Given the description of an element on the screen output the (x, y) to click on. 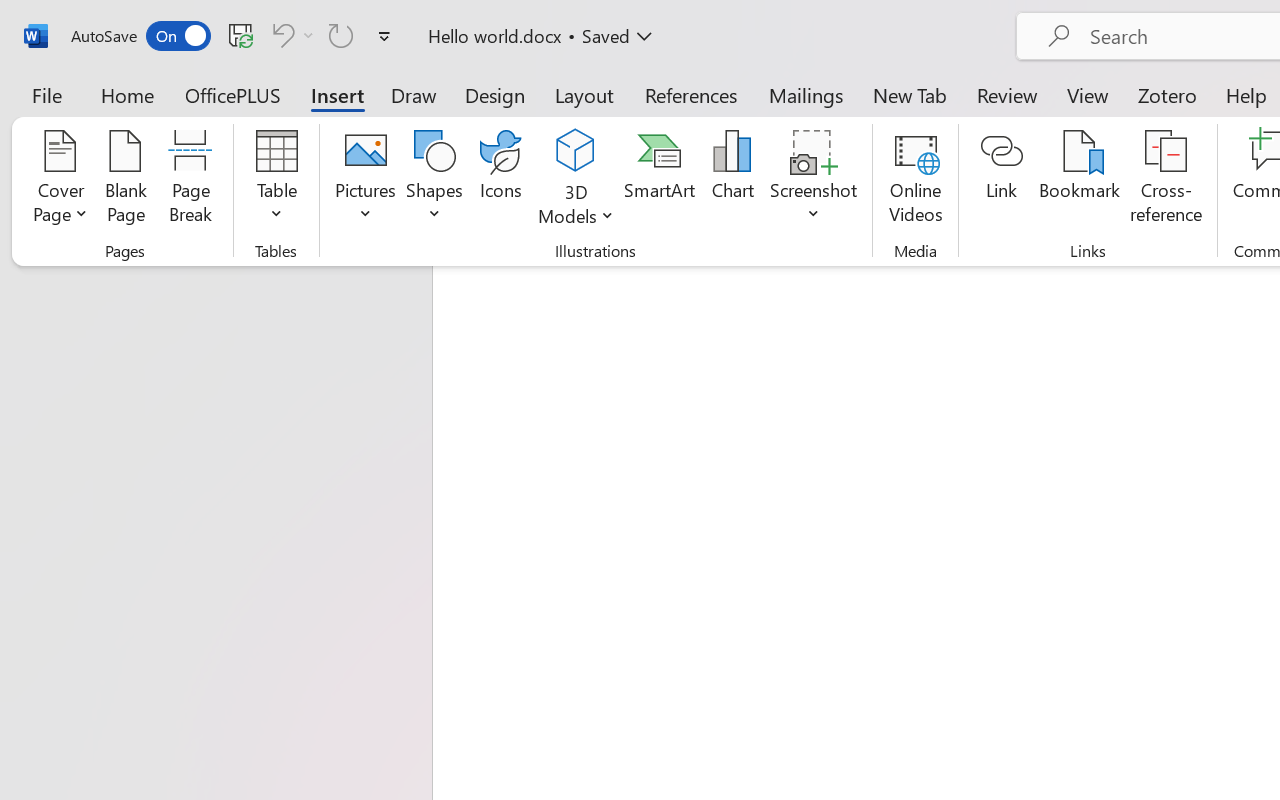
Can't Undo (290, 35)
Can't Undo (280, 35)
AutoSave (140, 35)
Review (1007, 94)
File Tab (46, 94)
Home (127, 94)
OfficePLUS (233, 94)
Zotero (1166, 94)
